Given the description of an element on the screen output the (x, y) to click on. 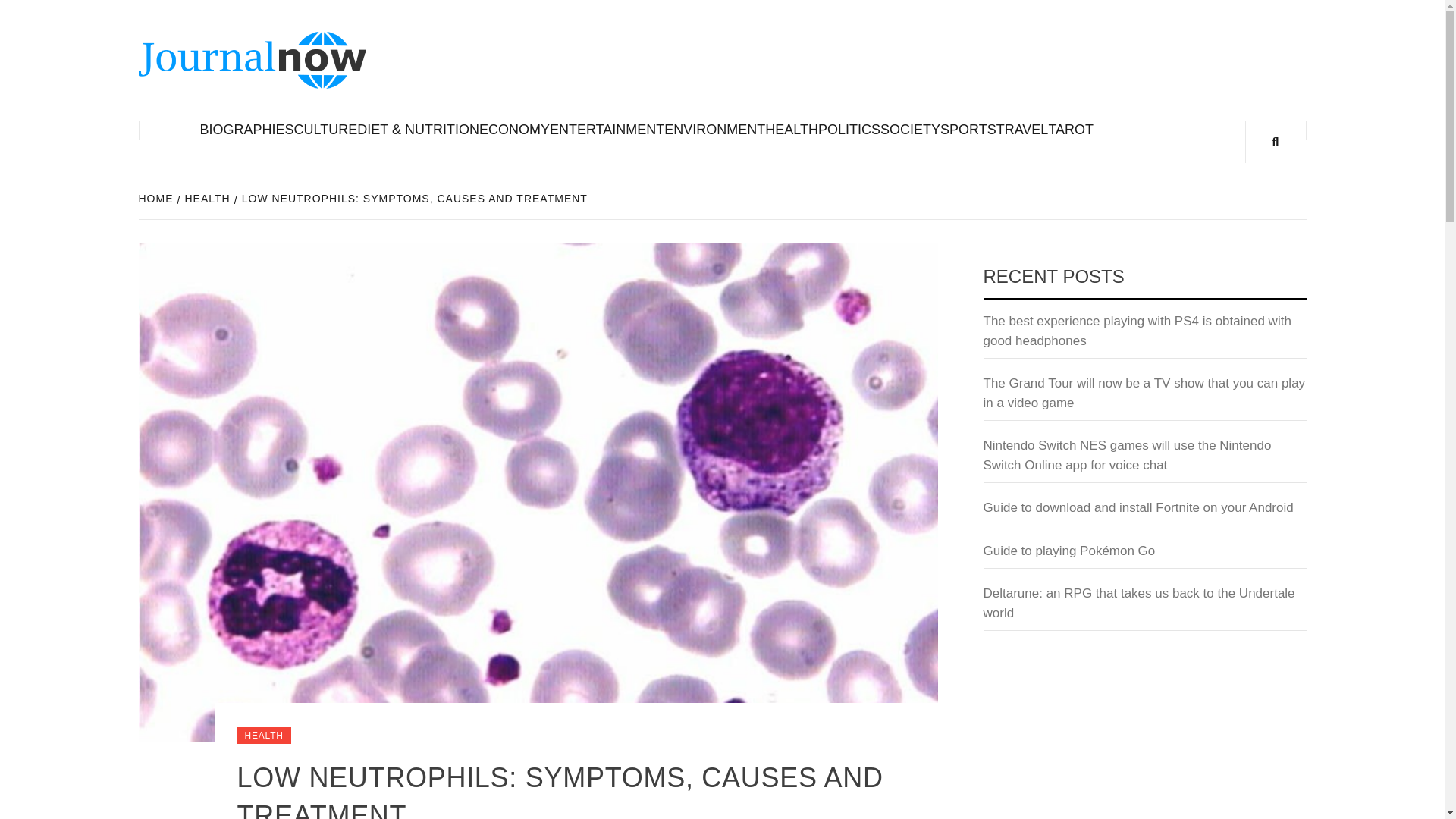
Guide to download and install Fortnite on your Android (1144, 730)
CULTURE (326, 129)
ENVIRONMENT (714, 129)
HEALTH (205, 198)
POLITICS (849, 129)
JOURNALNOW (494, 54)
HEALTH (262, 735)
TRAVEL (1021, 129)
ECONOMY (514, 129)
SOCIETY (910, 129)
TAROT (1070, 129)
HOME (157, 198)
